Given the description of an element on the screen output the (x, y) to click on. 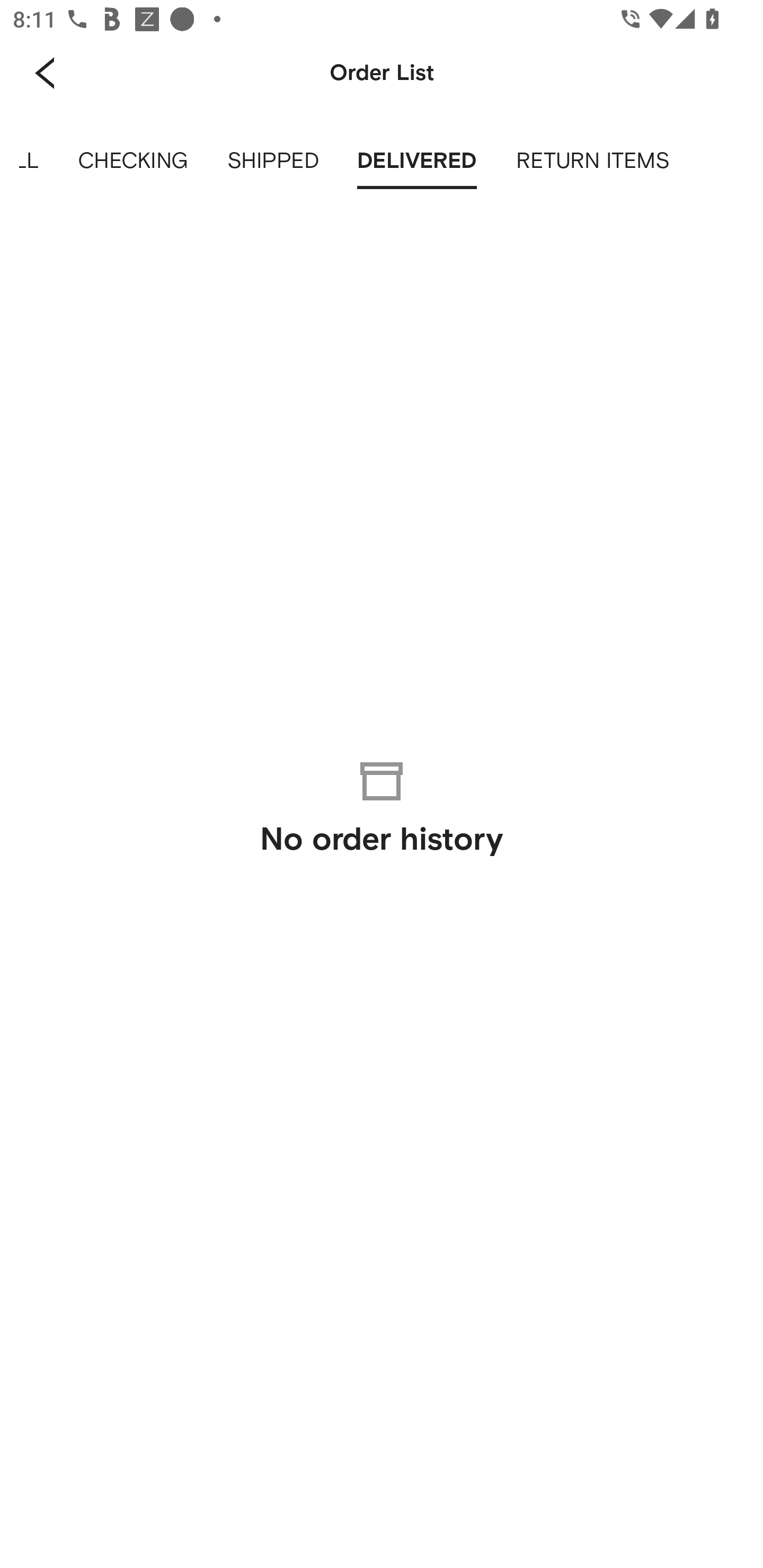
CHECKING (132, 161)
SHIPPED (272, 161)
RETURN ITEMS (592, 161)
